Given the description of an element on the screen output the (x, y) to click on. 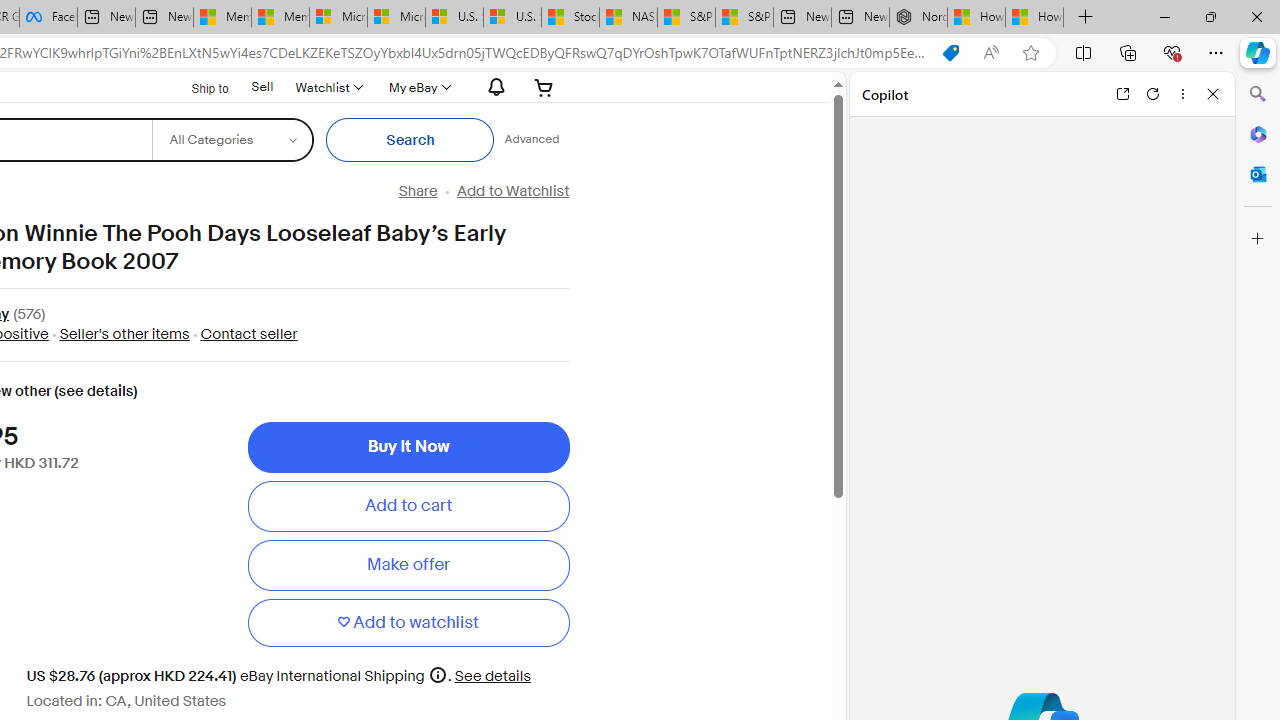
Sell (262, 86)
You have the best price! (950, 53)
Select a category for search (232, 139)
Add to Watchlist (512, 191)
Advanced Search (531, 139)
My eBay (418, 87)
Make offer (408, 565)
